Given the description of an element on the screen output the (x, y) to click on. 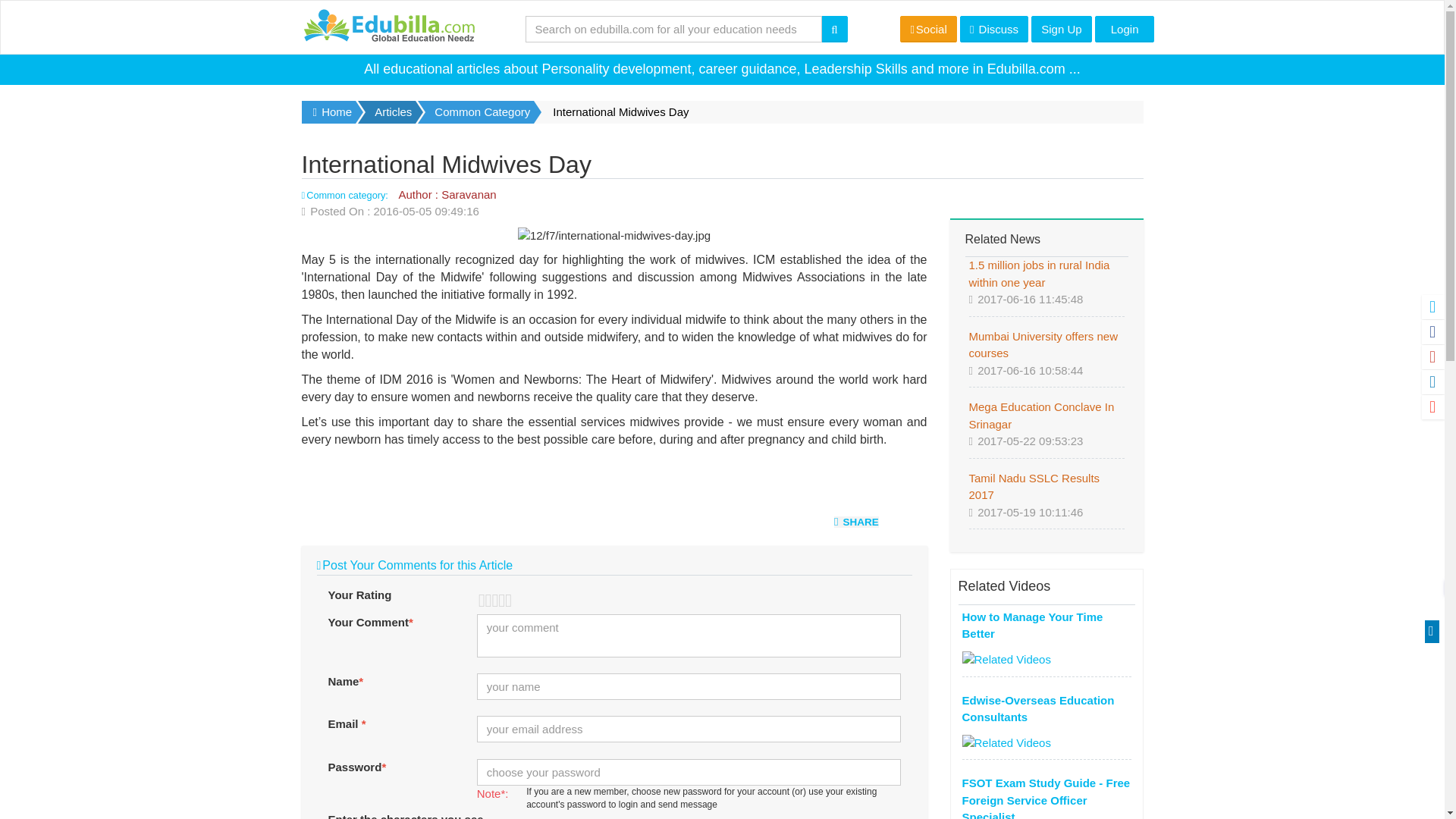
Mumbai University offers new courses (1043, 345)
Home (328, 111)
How to Manage Your Time Better (1031, 625)
Tamil Nadu SSLC Results 2017 (1034, 486)
Socialize (927, 28)
Sign Up (1060, 28)
Articles (393, 111)
1.5 million jobs in rural India within one year (1039, 273)
Common category: (346, 194)
Edwise-Overseas Education Consultants (1036, 707)
Mega Education Conclave In Srinagar (1042, 415)
Social (927, 28)
Edubilla.com - Education Portal (388, 26)
Login (1124, 28)
